Given the description of an element on the screen output the (x, y) to click on. 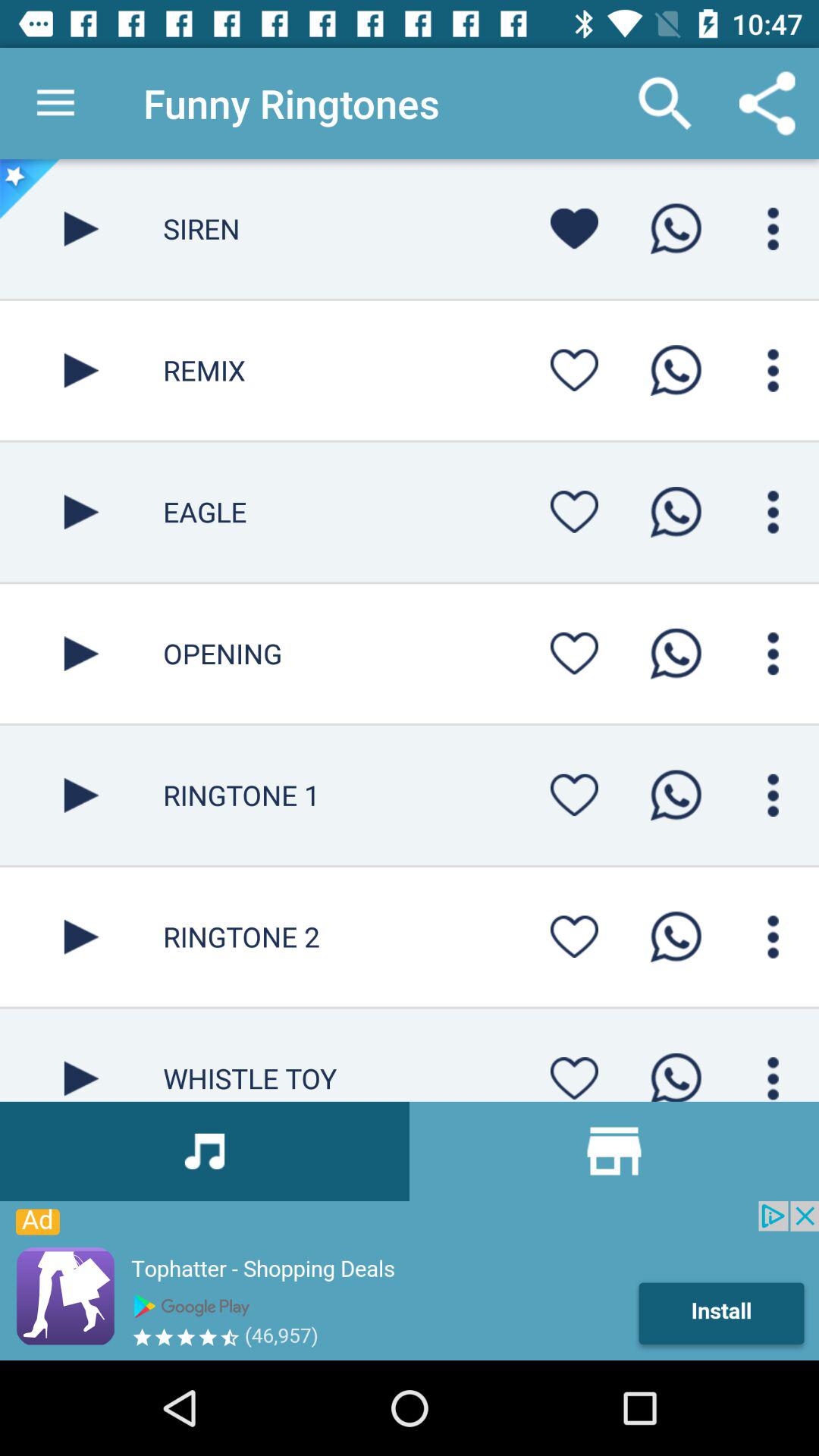
whatsapp (675, 1072)
